Given the description of an element on the screen output the (x, y) to click on. 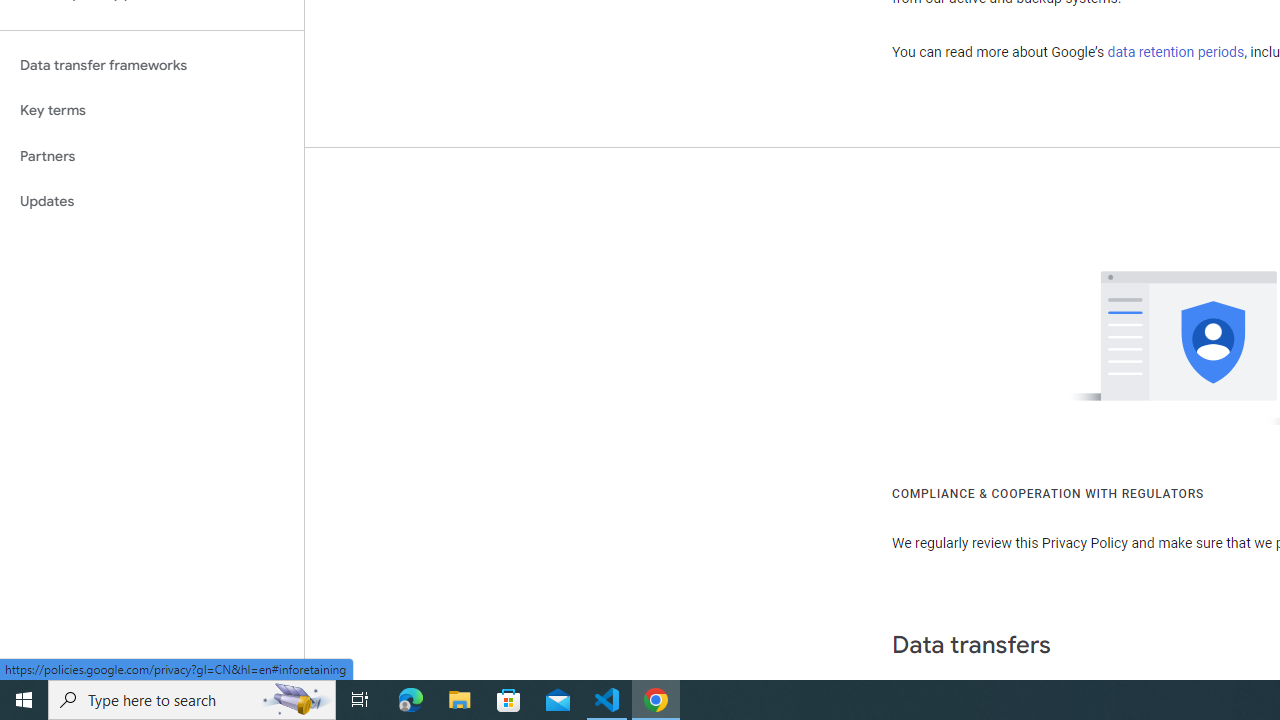
data retention periods (1176, 52)
